Given the description of an element on the screen output the (x, y) to click on. 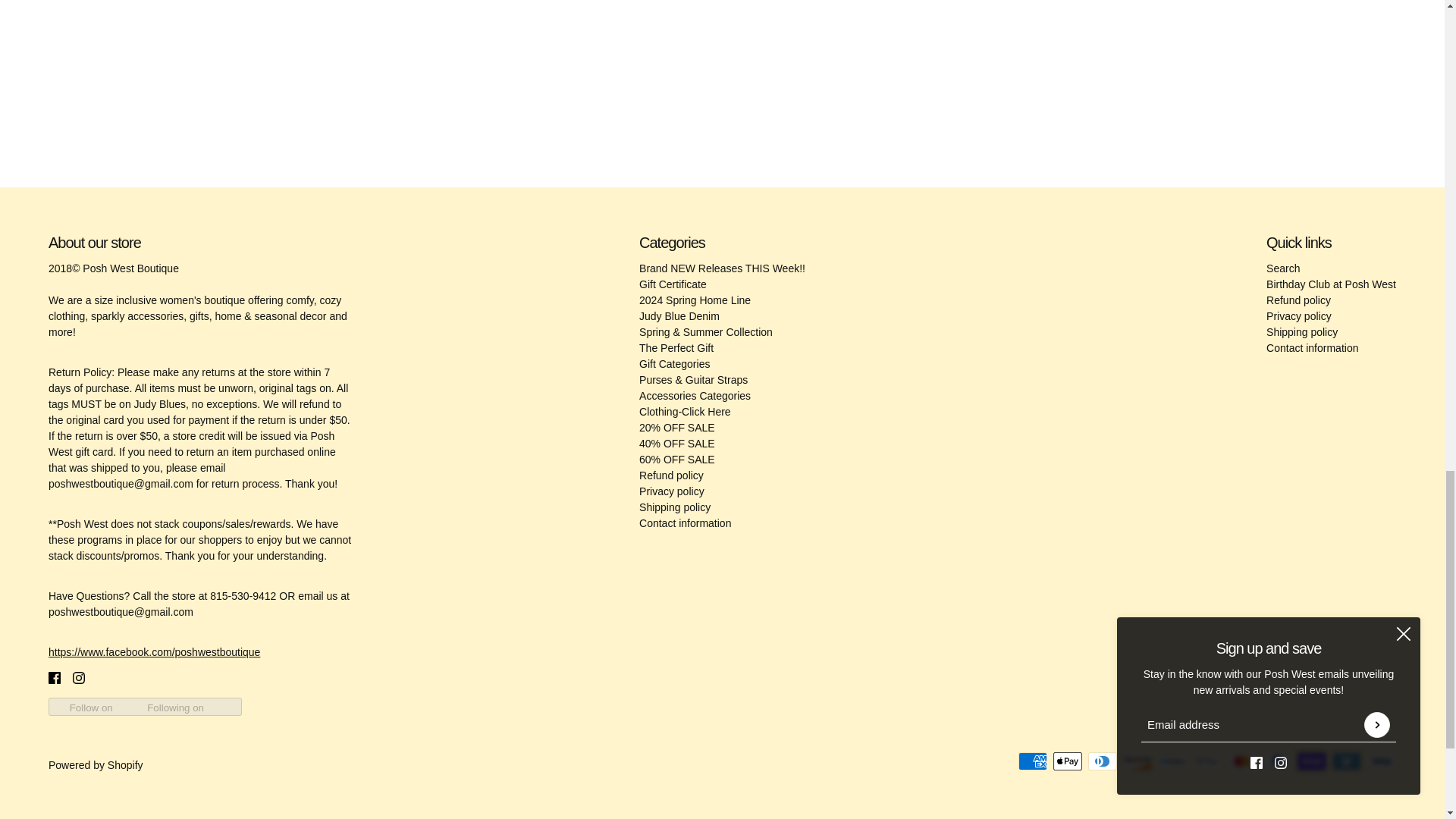
Gift Categories (674, 363)
Brand NEW Releases THIS Week!! (722, 268)
The Perfect Gift (676, 347)
Shipping policy (674, 507)
Clothing-Click Here (684, 411)
Contact information (684, 522)
Judy Blue Denim (679, 316)
Refund policy (671, 475)
Accessories Categories (695, 395)
Birthday Club at Posh West (1331, 284)
Privacy policy (671, 491)
2024 Spring Home Line (695, 300)
Gift Certificate (672, 284)
